Given the description of an element on the screen output the (x, y) to click on. 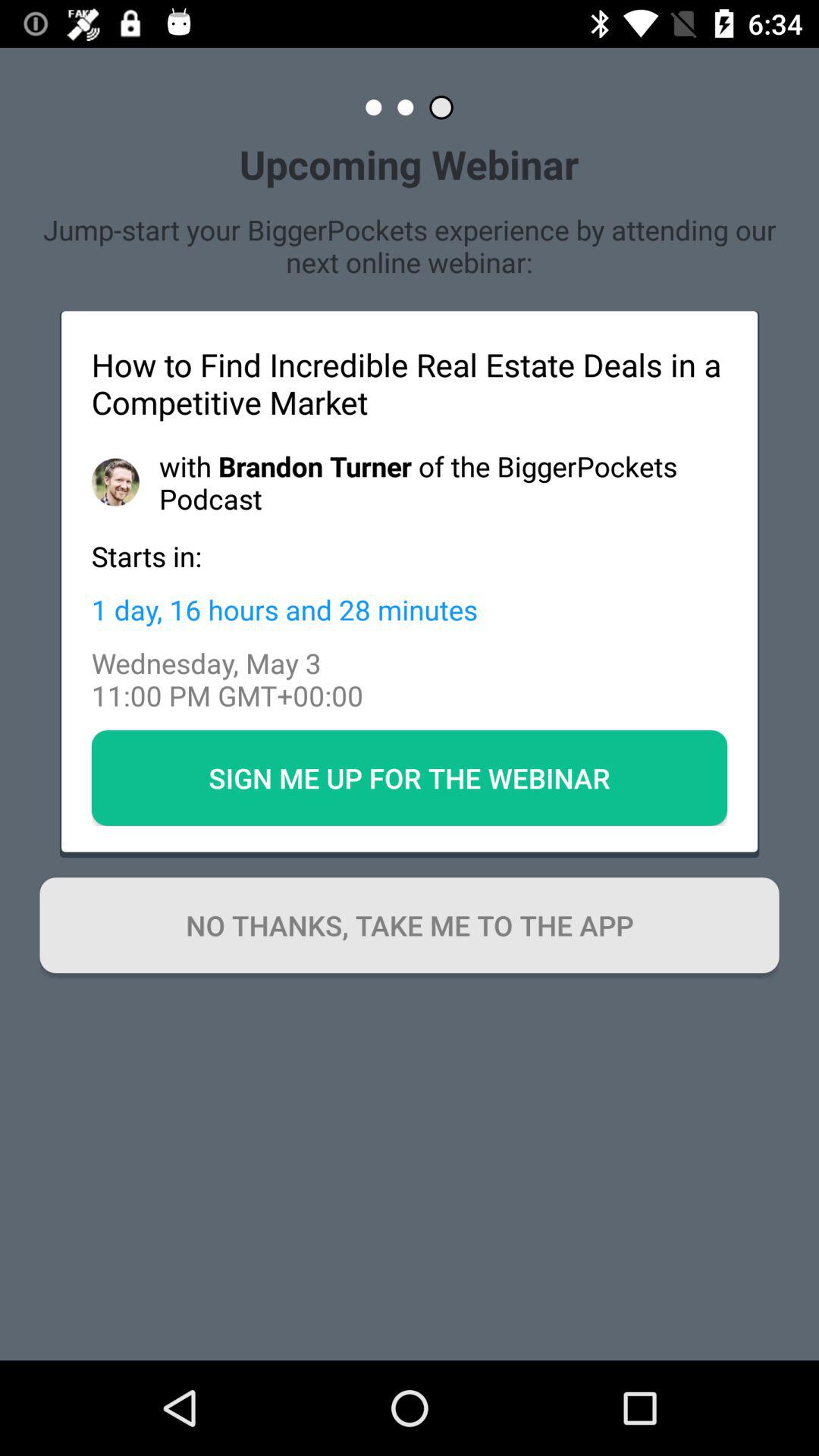
press no thanks take (409, 925)
